Given the description of an element on the screen output the (x, y) to click on. 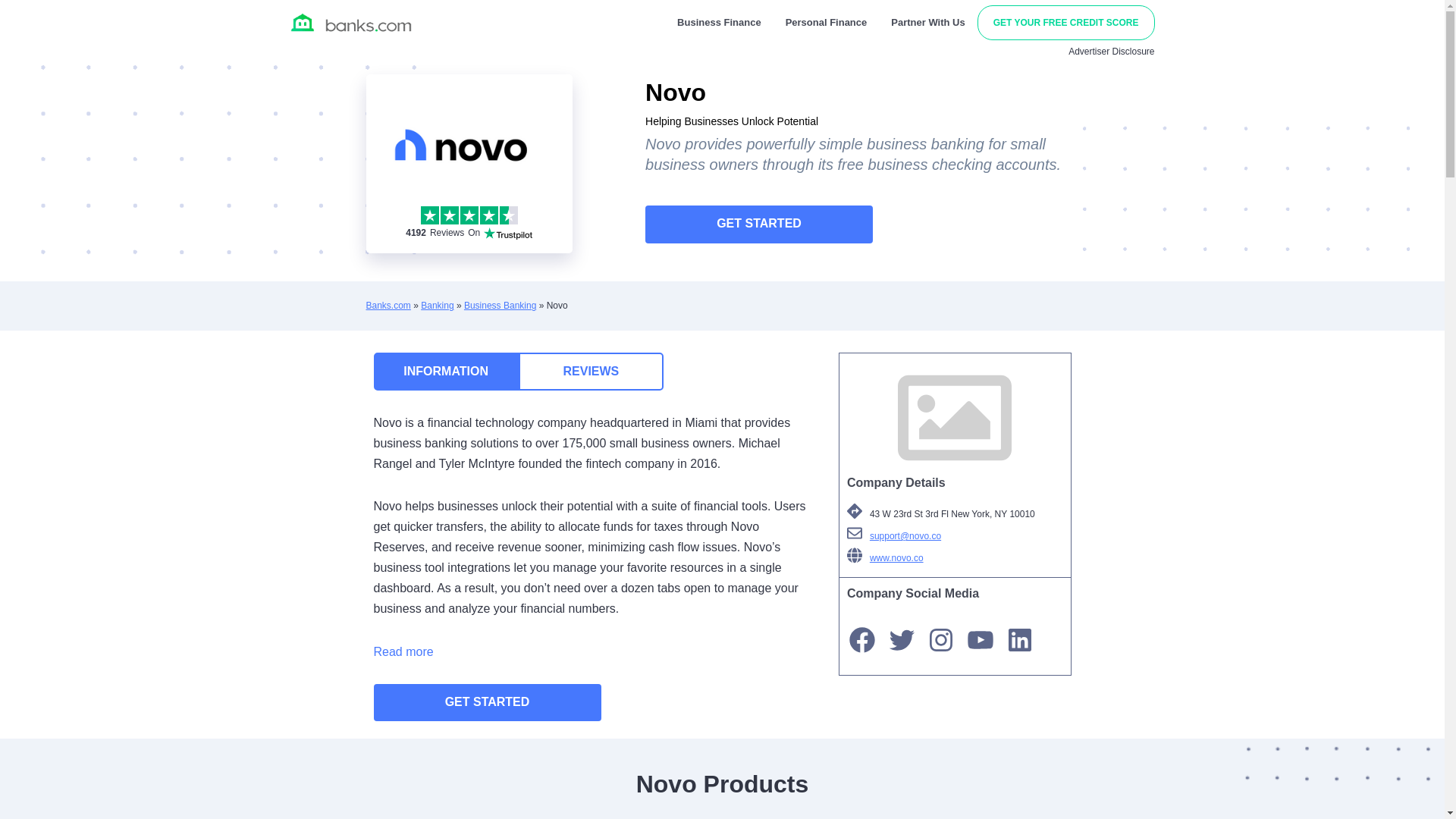
Instagram (468, 222)
INFORMATION (941, 639)
GET STARTED (445, 371)
GET STARTED (485, 702)
Partner With Us (758, 224)
Twitter (927, 22)
YouTube (901, 639)
Business Banking (980, 639)
Business Finance (499, 305)
GET YOUR FREE CREDIT SCORE (719, 22)
www.novo.co (1065, 22)
43 W 23rd St 3rd Fl New York, NY 10010 (954, 558)
Banks.com (954, 418)
Personal Finance (387, 305)
